Given the description of an element on the screen output the (x, y) to click on. 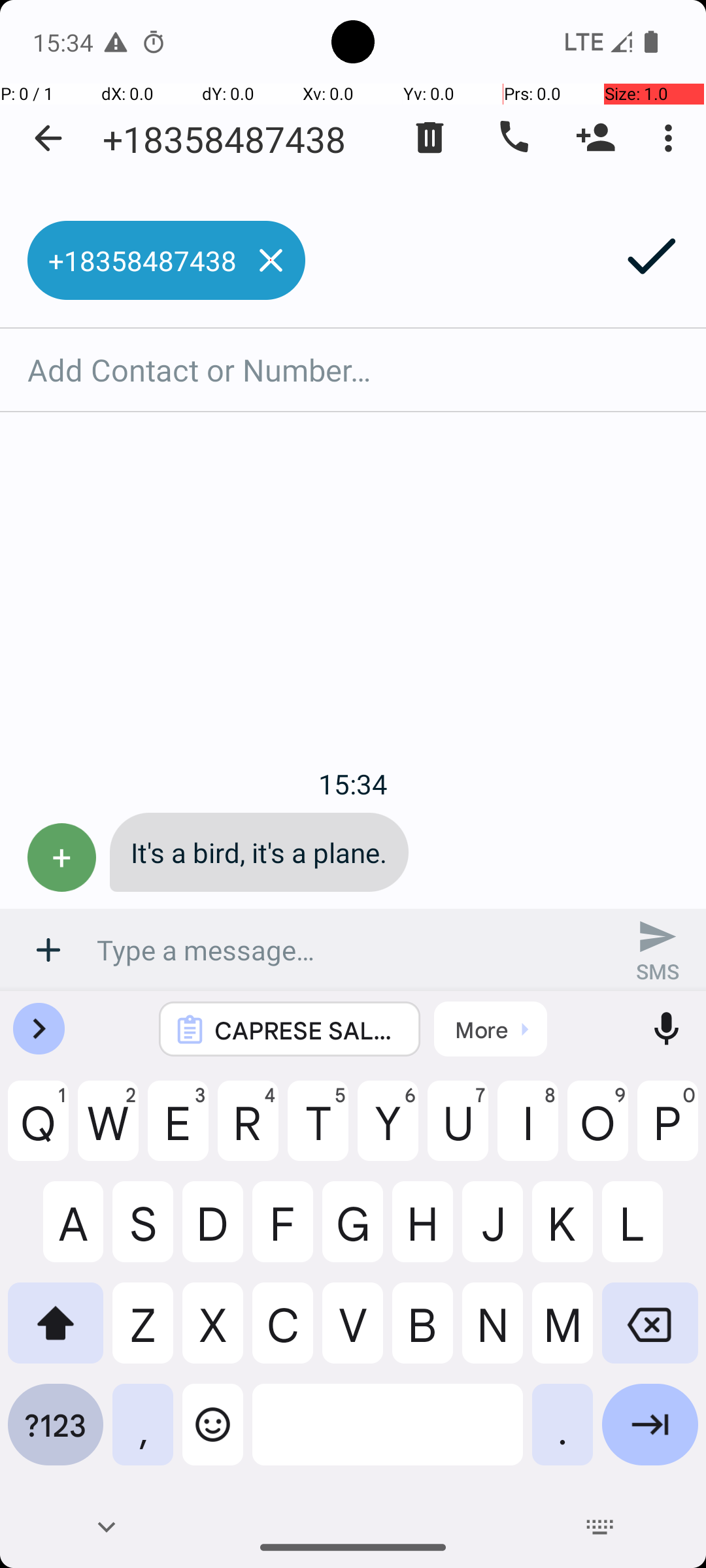
+18358487438 Element type: android.widget.TextView (223, 138)
Add Contact or Number… Element type: android.widget.AutoCompleteTextView (352, 369)
CAPRESE SALAD SKEWERS  Servings: 1 serving Time: 45 mins  A quick and easy meal, perfect for busy weekdays.  Ingredients: - n/a  Directions: 1. Thread cherry tomatoes, basil leaves, and mozzarella balls onto skewers. Drizzle with balsamic glaze. Feel free to substitute with ingredients you have on hand.  Shared with https://play.google.com/store/apps/details?id=com.flauschcode.broccoli Element type: android.widget.TextView (306, 1029)
